Given the description of an element on the screen output the (x, y) to click on. 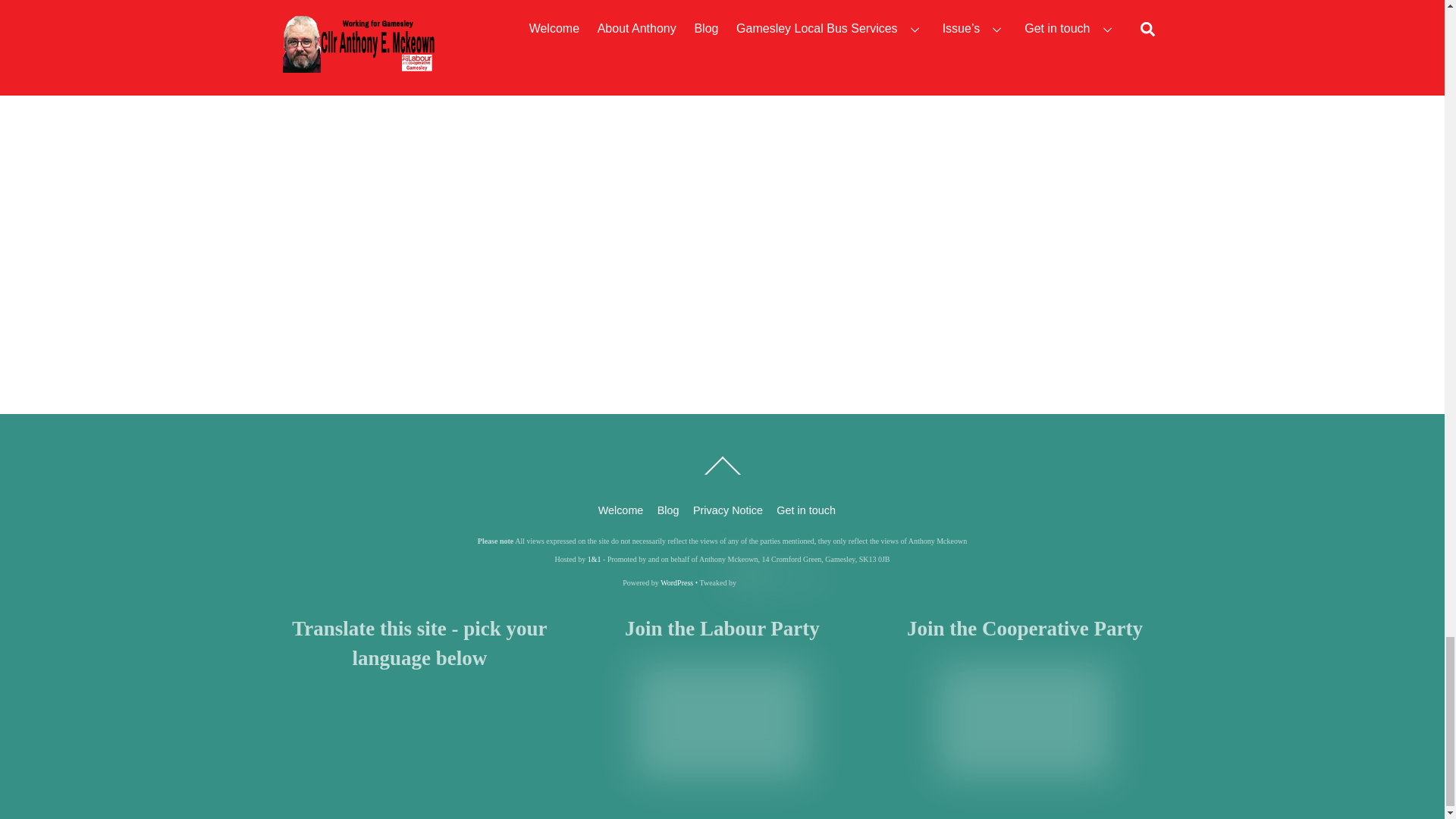
Join the Cooperative Party (1024, 716)
Join the Labour Party (721, 716)
